Given the description of an element on the screen output the (x, y) to click on. 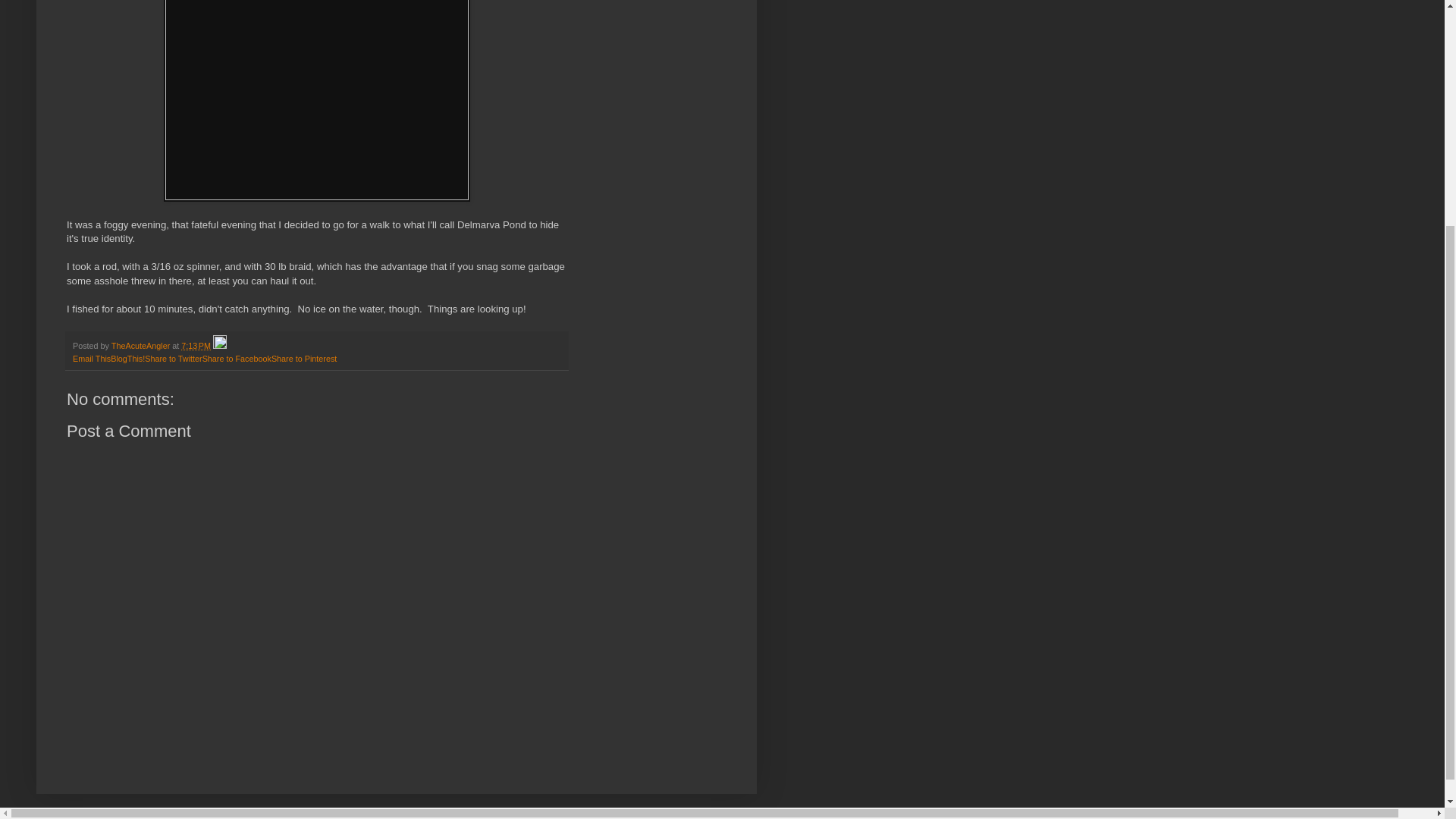
Share to Pinterest (303, 358)
Email This (91, 358)
Email This (91, 358)
Share to Facebook (236, 358)
Share to Pinterest (303, 358)
BlogThis! (127, 358)
Share to Facebook (236, 358)
Share to Twitter (173, 358)
TheAcuteAngler (141, 345)
permanent link (195, 345)
Share to Twitter (173, 358)
author profile (141, 345)
Edit Post (219, 345)
BlogThis! (127, 358)
